Given the description of an element on the screen output the (x, y) to click on. 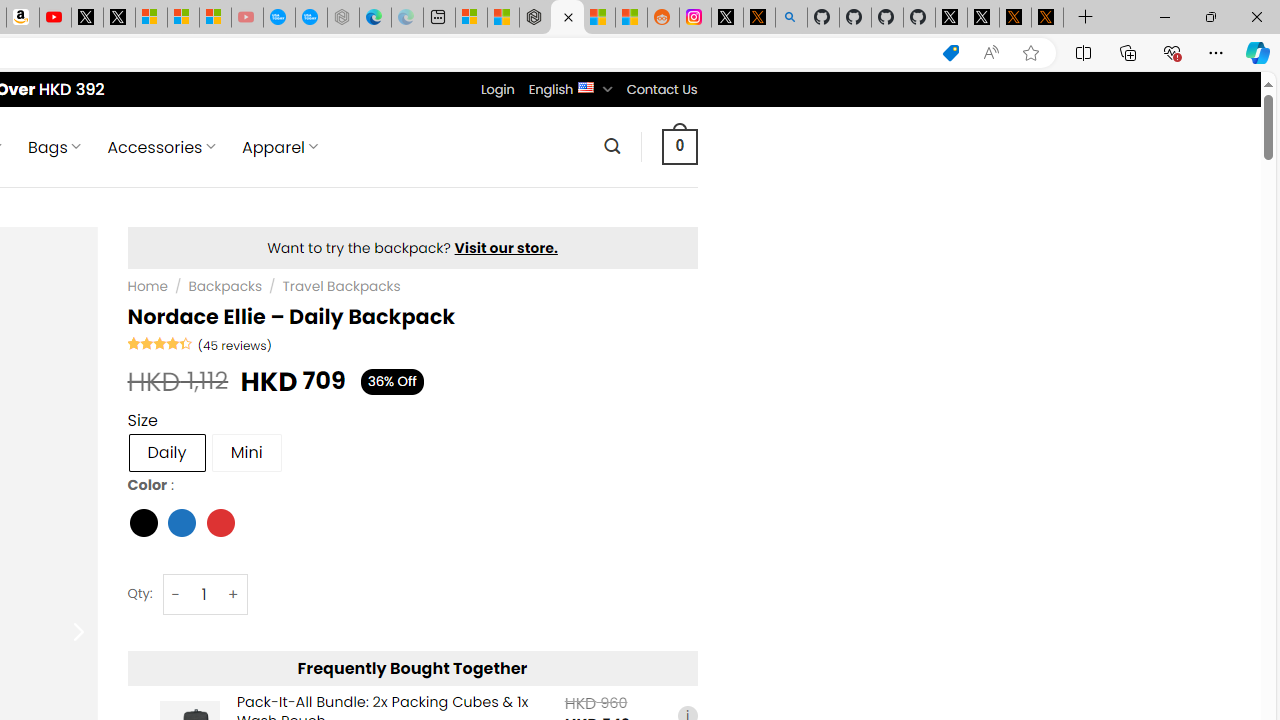
Nordace Ellie - Daily Backpack quantity (204, 593)
Mini (246, 452)
GitHub (@github) / X (983, 17)
Gloom - YouTube - Sleeping (246, 17)
Rated 4.33 out of 5 (160, 342)
Visit our store. (506, 247)
